Given the description of an element on the screen output the (x, y) to click on. 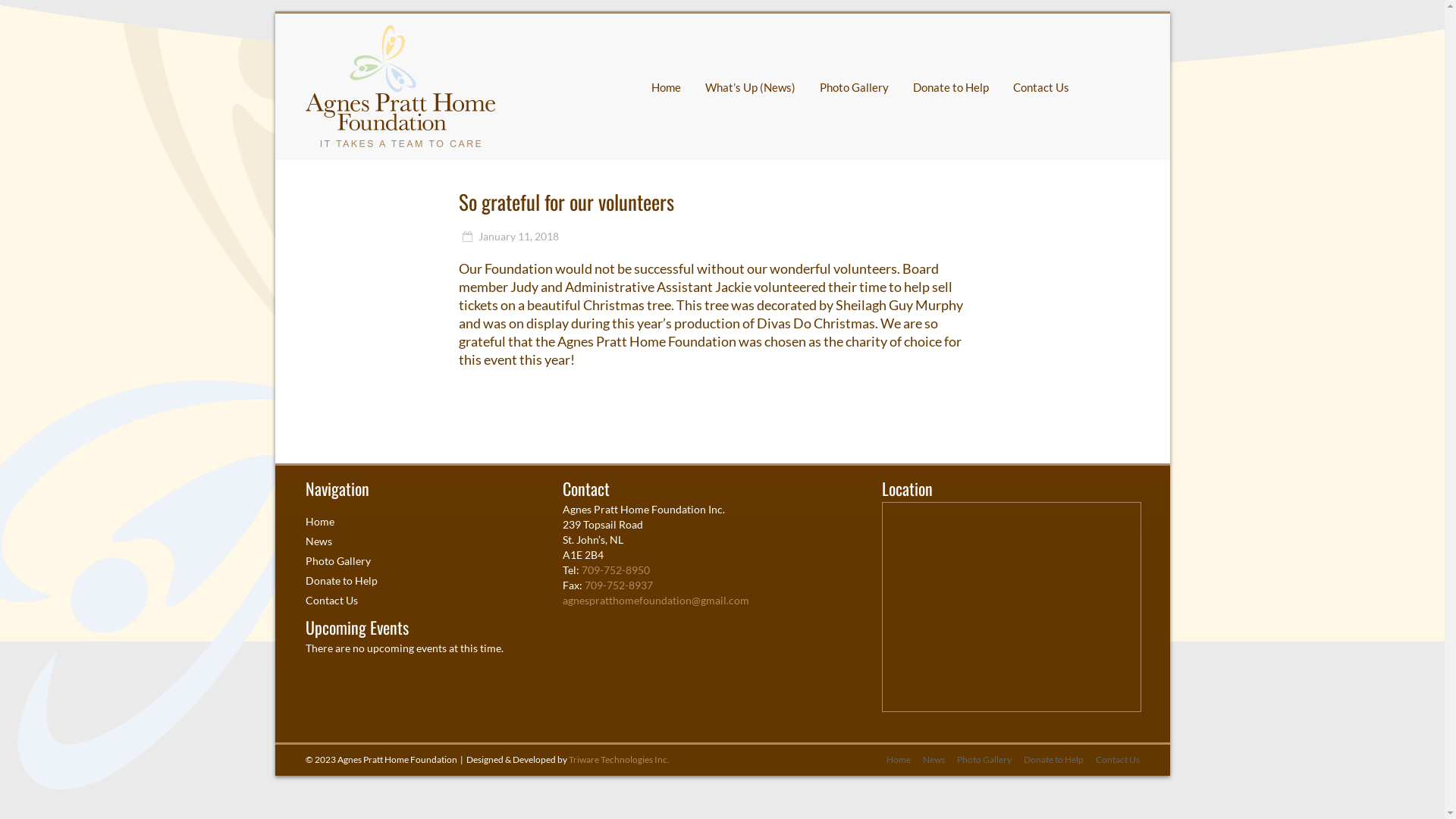
Home Element type: text (891, 760)
Agnes Pratt Home Foundation Element type: hover (399, 32)
Contact Us Element type: text (330, 599)
Home Element type: text (665, 86)
709-752-8950 Element type: text (615, 569)
Photo Gallery Element type: text (853, 86)
709-752-8937 Element type: text (618, 584)
agnespratthomefoundation@gmail.com Element type: text (655, 599)
Home Element type: text (318, 520)
Donate to Help Element type: text (340, 580)
Donate to Help Element type: text (950, 86)
Contact Us Element type: text (1041, 86)
Photo Gallery Element type: text (337, 560)
Donate to Help Element type: text (1047, 760)
Contact Us Element type: text (1110, 760)
Photo Gallery Element type: text (977, 760)
January 11, 2018 Element type: text (508, 235)
Triware Technologies Inc. Element type: text (618, 759)
News Element type: text (317, 540)
News Element type: text (927, 760)
